Given the description of an element on the screen output the (x, y) to click on. 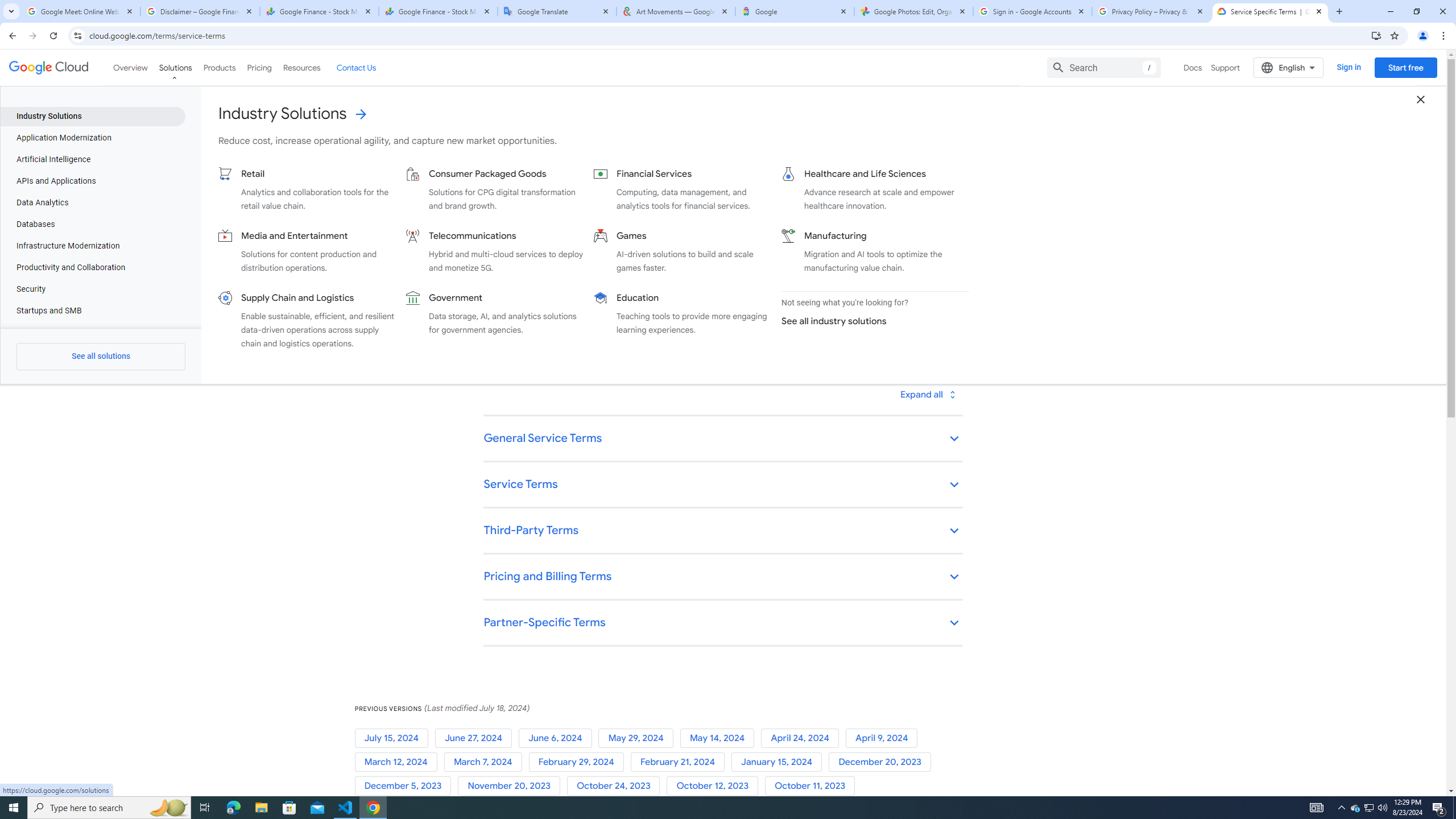
May 29, 2024 (638, 737)
March 12, 2024 (398, 761)
See all solutions (100, 356)
Databases (92, 224)
April 9, 2024 (883, 737)
October 11, 2023 (812, 786)
Google Cloud (48, 67)
Docs (1192, 67)
November 20, 2023 (511, 786)
